Given the description of an element on the screen output the (x, y) to click on. 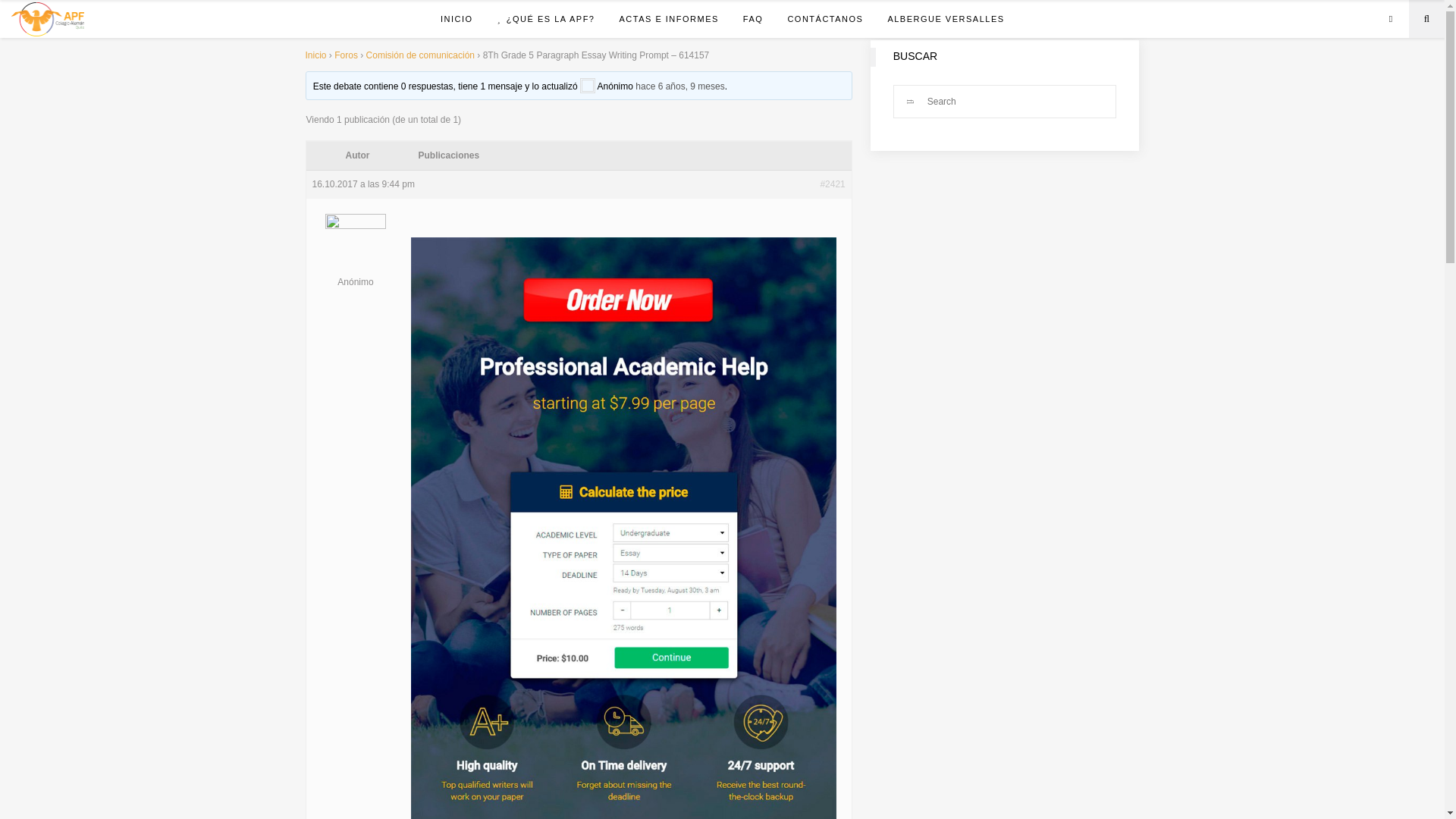
INICIO (456, 18)
ACTAS E INFORMES (668, 18)
FAQ (753, 18)
Foros (346, 54)
ALBERGUE VERSALLES (945, 18)
Inicio (315, 54)
